Given the description of an element on the screen output the (x, y) to click on. 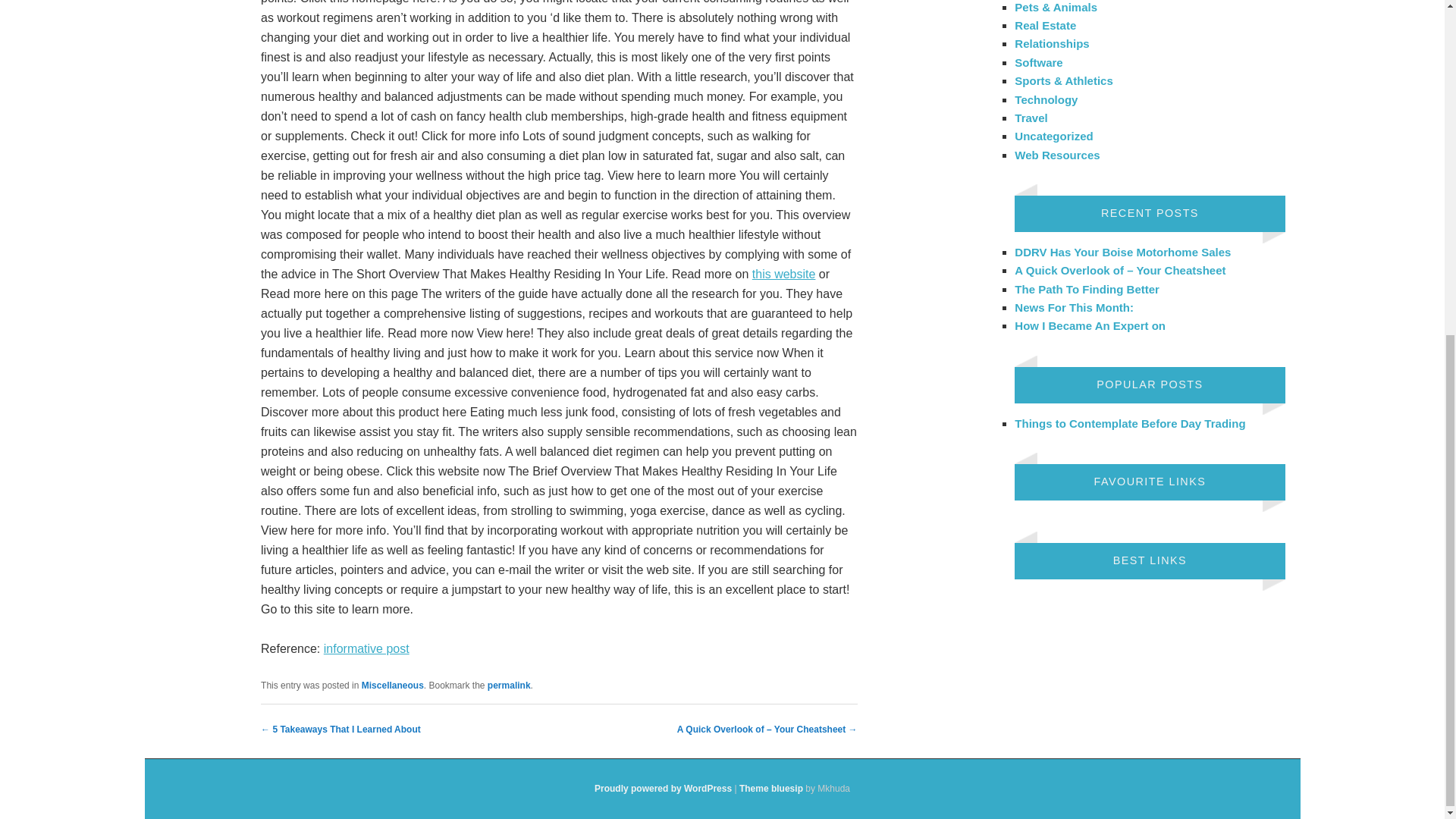
Technology (1045, 98)
Relationships (1051, 42)
Software (1038, 62)
Real Estate (1044, 24)
Miscellaneous (392, 685)
Mkhuda (771, 787)
permalink (509, 685)
Travel (1030, 117)
this website (783, 273)
A Semantic Personal Publishing Platform (663, 787)
